Given the description of an element on the screen output the (x, y) to click on. 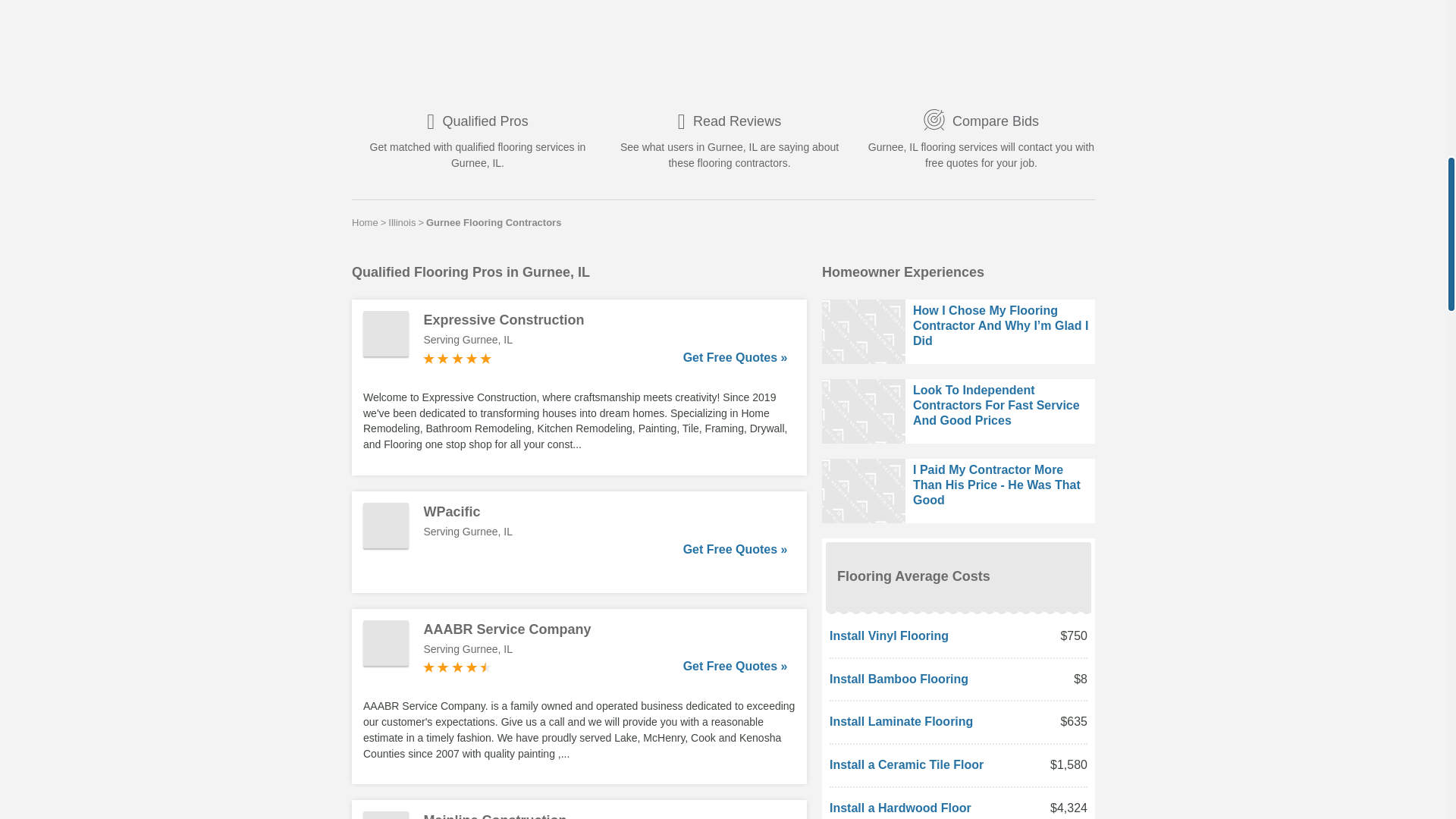
Expressive Construction (605, 320)
Home (365, 222)
5 star rating (457, 358)
4.5 star rating (457, 667)
Illinois (401, 222)
